Given the description of an element on the screen output the (x, y) to click on. 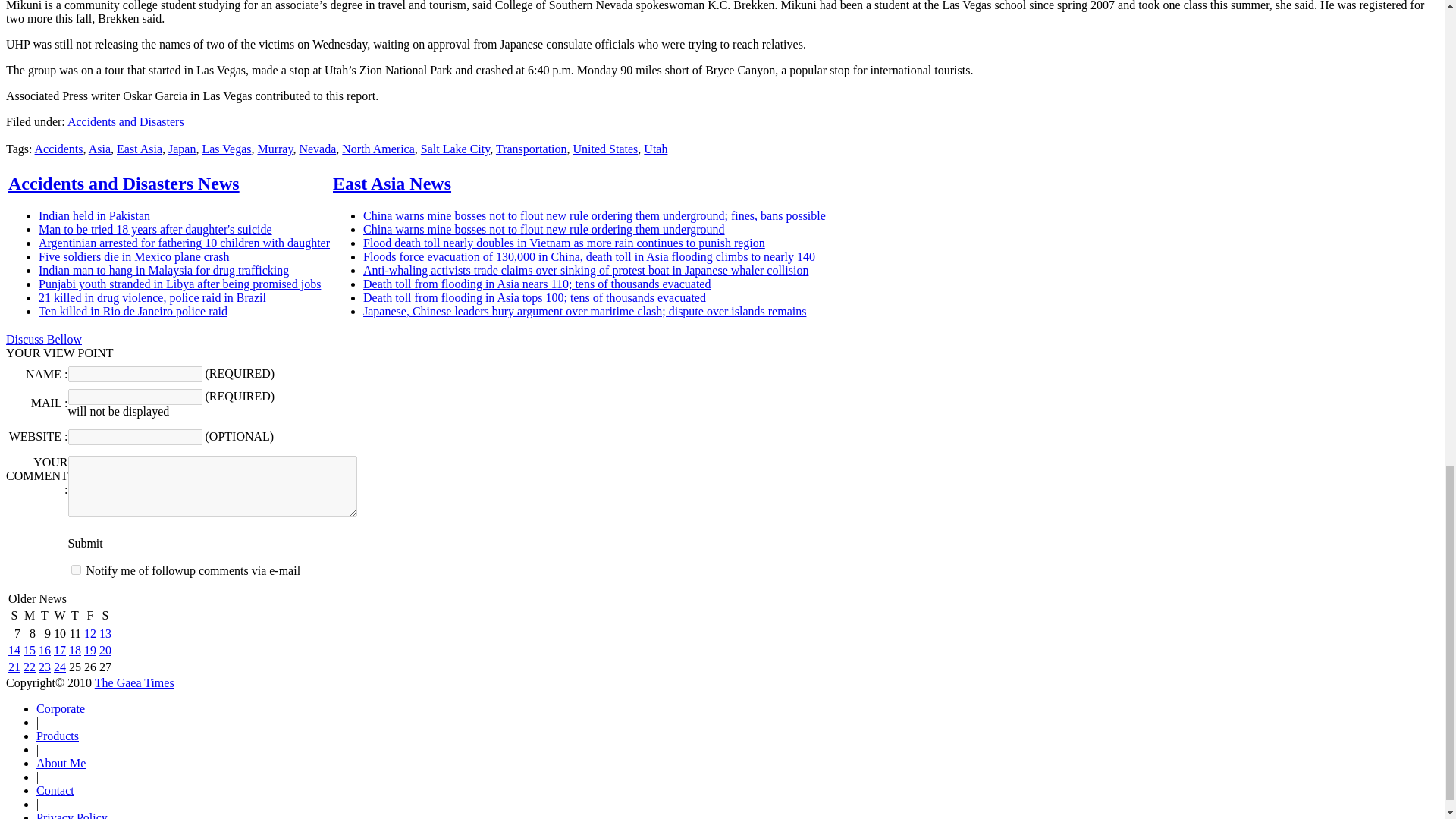
Japan (181, 148)
Accidents (58, 148)
Las Vegas (226, 148)
Murray (274, 148)
Accidents and Disasters (125, 121)
East Asia (138, 148)
subscribe (76, 569)
Asia (99, 148)
Nevada (317, 148)
